Given the description of an element on the screen output the (x, y) to click on. 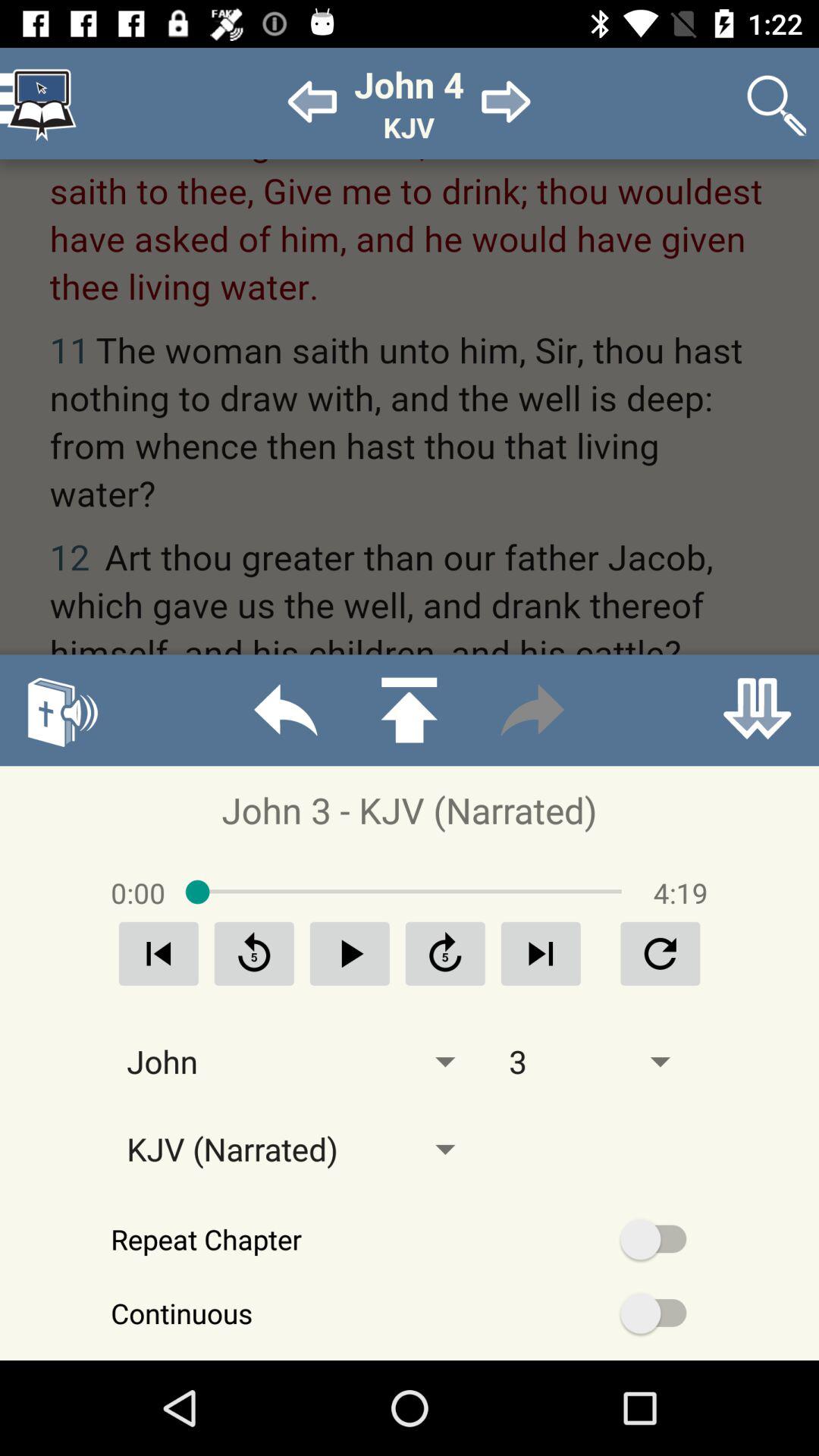
to maximize the page (409, 709)
